Given the description of an element on the screen output the (x, y) to click on. 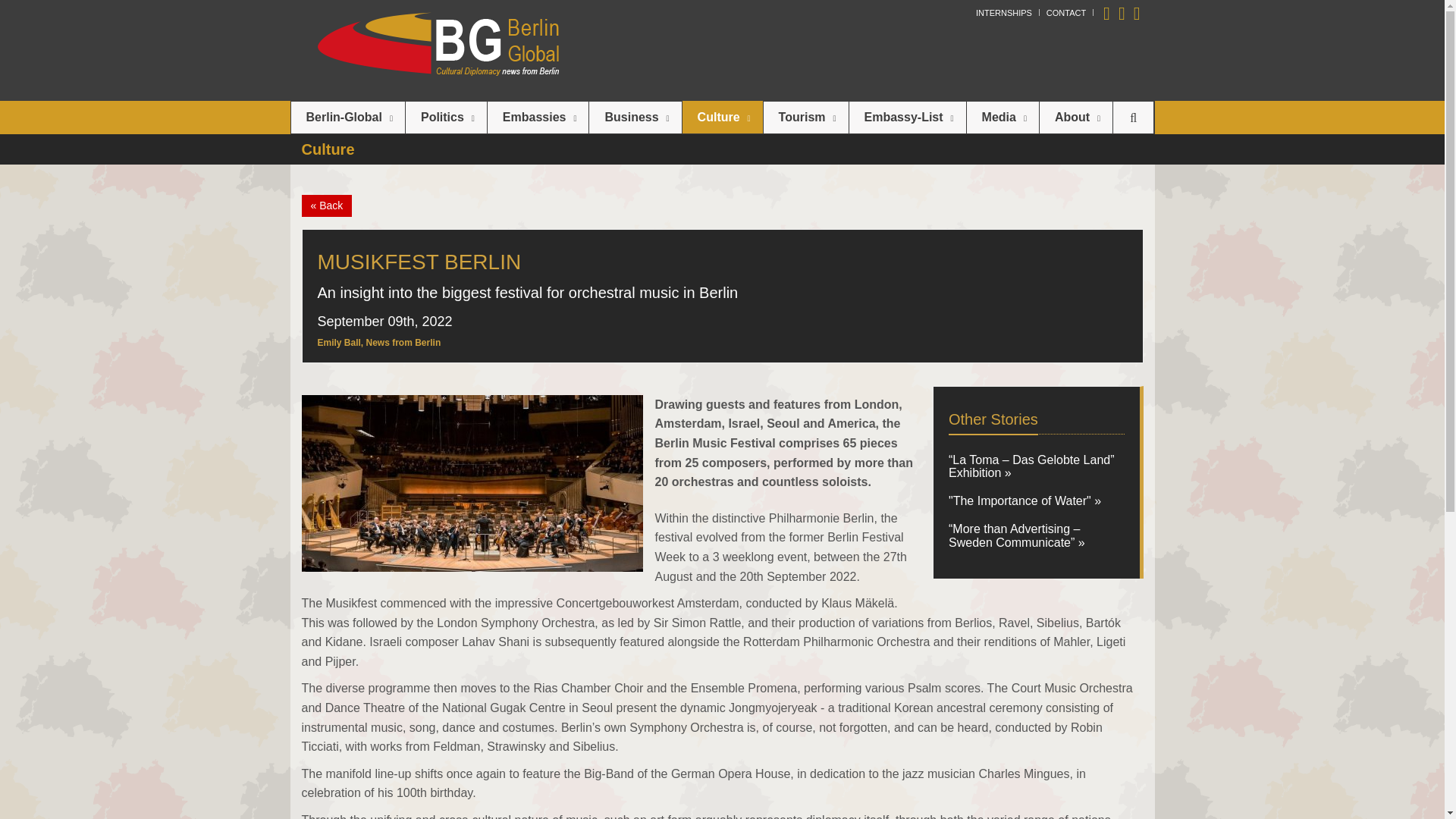
Embassy-List (907, 116)
About (1075, 116)
Media (1002, 116)
Berlin-Global (347, 116)
Berlin-Global (347, 116)
INTERNSHIPS (1003, 12)
Tourism (805, 116)
Embassies (538, 116)
Culture (722, 116)
Media (1002, 116)
CONTACT (1066, 12)
Business (635, 116)
Tourism (805, 116)
Politics (446, 116)
Business (635, 116)
